Given the description of an element on the screen output the (x, y) to click on. 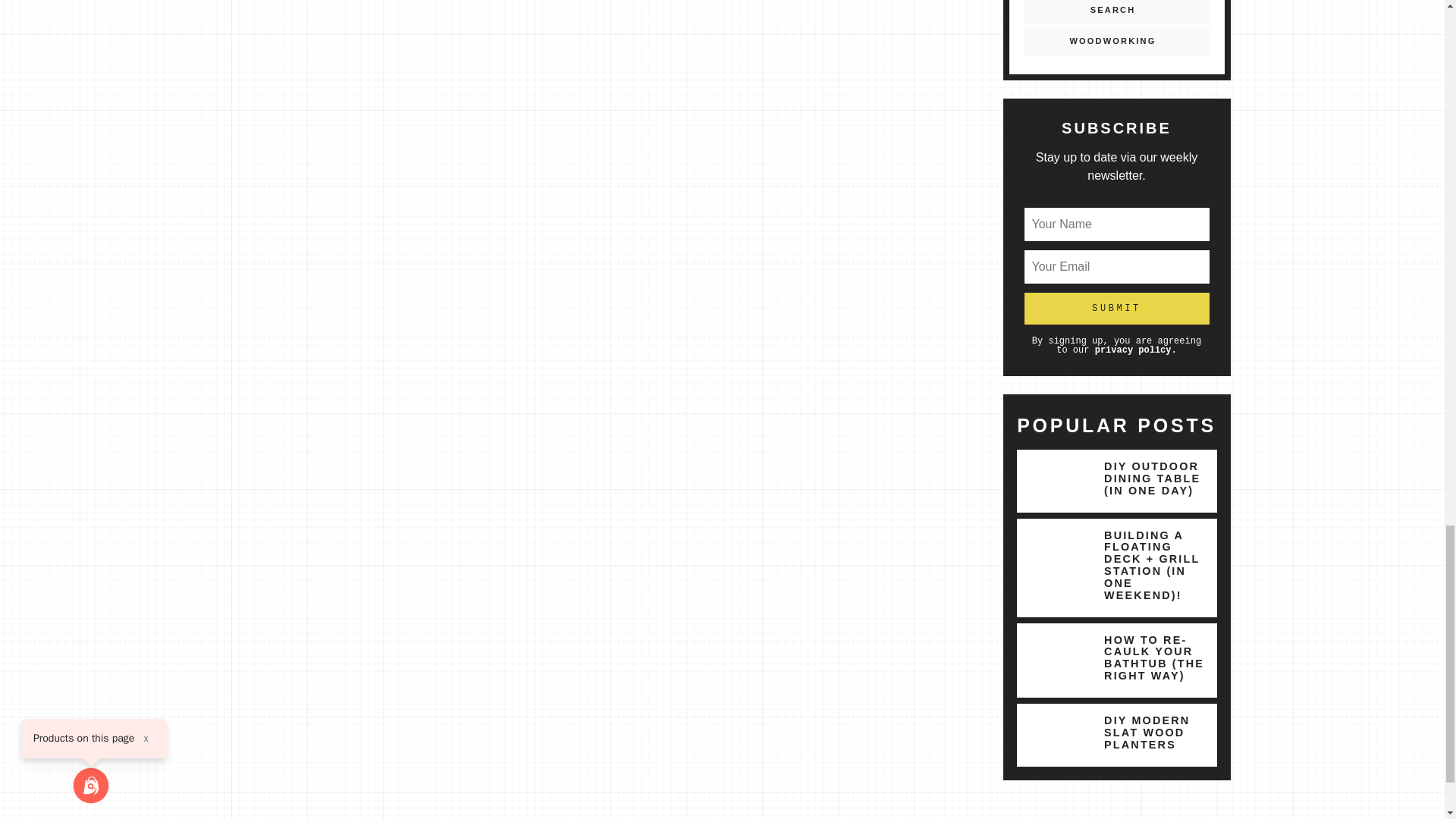
Submit (1115, 308)
Name (1115, 224)
